Given the description of an element on the screen output the (x, y) to click on. 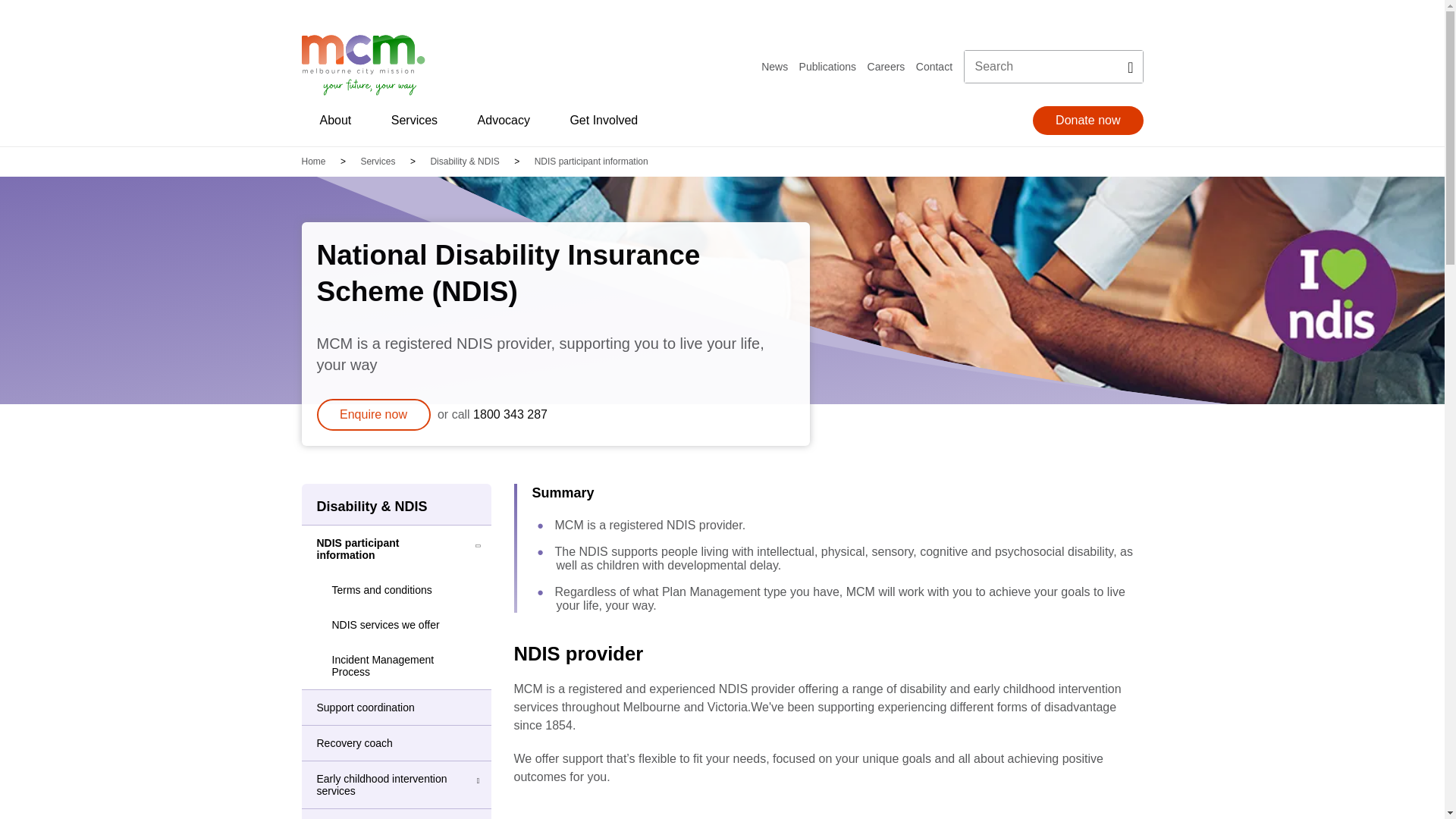
Early childhood intervention services Element type: text (377, 784)
Advocacy Element type: text (503, 119)
Terms and conditions Element type: text (376, 589)
NDIS services we offer Element type: text (379, 624)
News Element type: text (774, 66)
Incident Management Process Element type: text (396, 665)
Donate now Element type: text (1087, 120)
Home Element type: text (313, 161)
NDIS participant information Element type: text (377, 548)
Disability & NDIS Element type: text (396, 504)
Support coordination Element type: text (377, 707)
Services Element type: text (377, 161)
1800 343 287 Element type: text (510, 413)
Contact Element type: text (934, 66)
About Element type: text (335, 119)
Enquire now Element type: text (373, 414)
Disability & NDIS Element type: text (463, 161)
Get Involved Element type: text (603, 119)
Publications Element type: text (827, 66)
Recovery coach Element type: text (377, 742)
Services Element type: text (414, 119)
Careers Element type: text (886, 66)
